Given the description of an element on the screen output the (x, y) to click on. 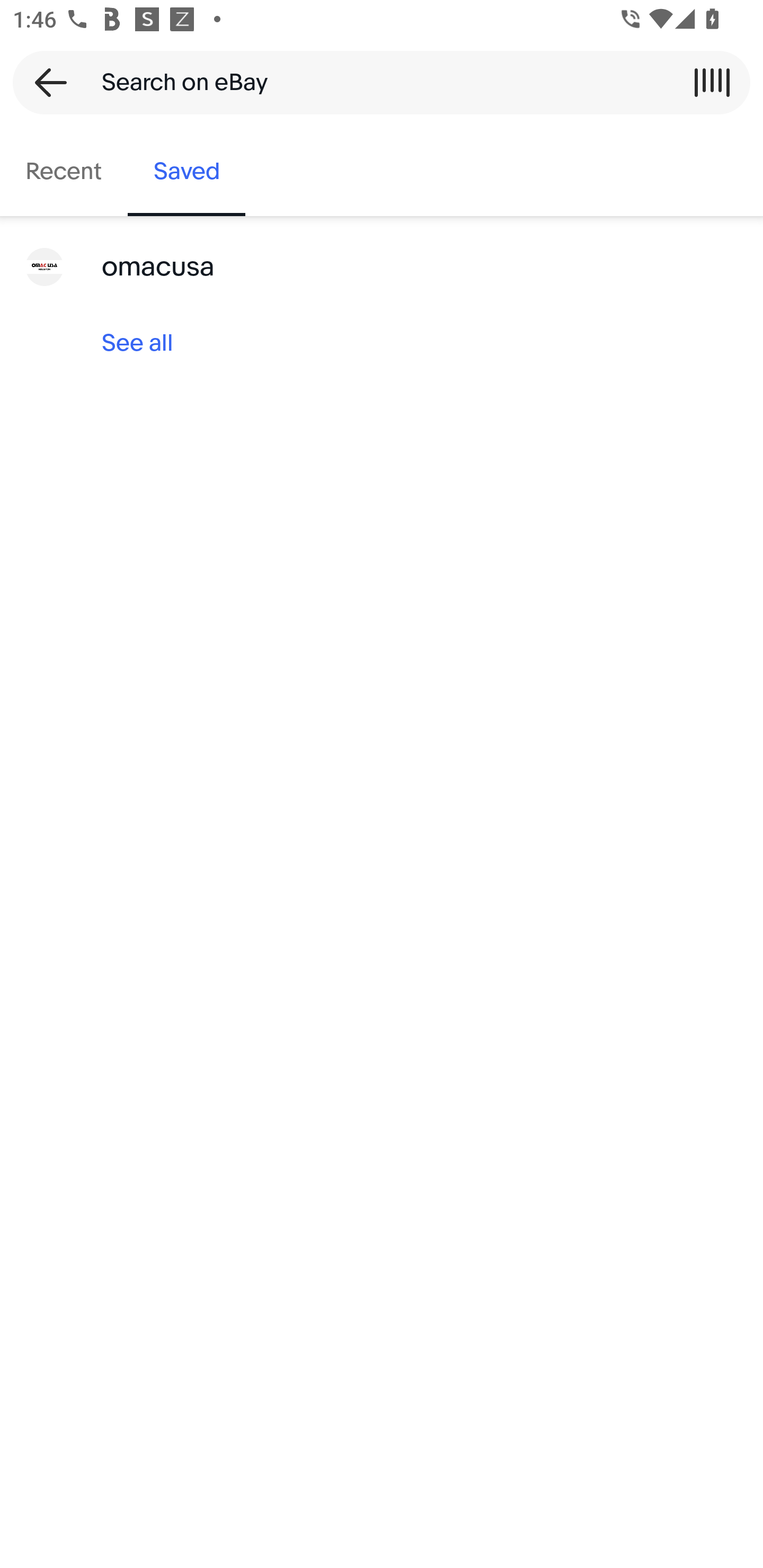
Back (44, 82)
Scan a barcode (711, 82)
Search on eBay (375, 82)
Recent, tab 1 of 2 Recent (63, 171)
User Search omacusa: omacusa (381, 266)
See all See all members (381, 343)
